Given the description of an element on the screen output the (x, y) to click on. 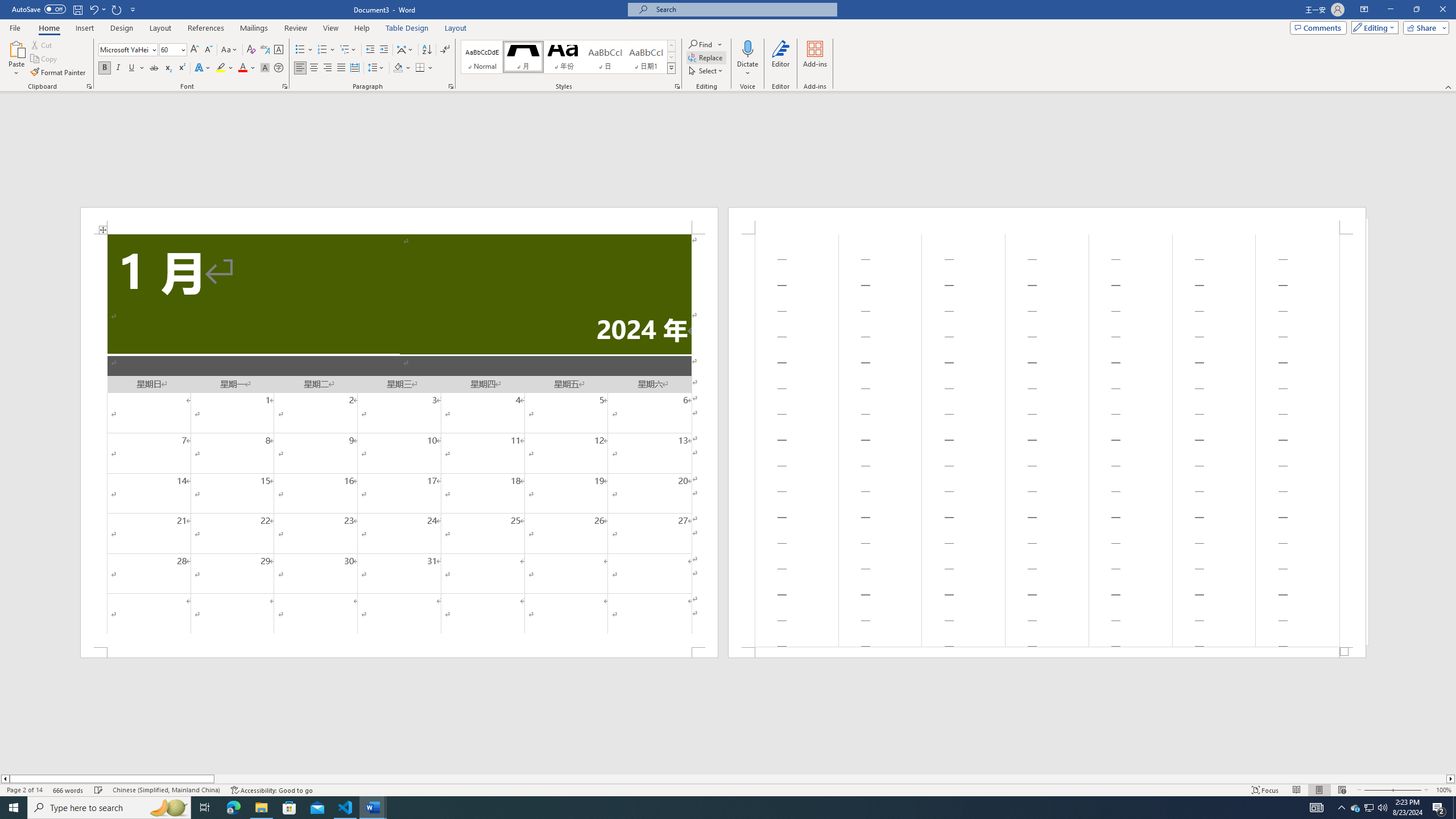
Dictate (747, 58)
Header -Section 1- (1046, 220)
More Options (747, 68)
Microsoft search (742, 9)
Borders (419, 67)
Replace... (705, 56)
Subscript (167, 67)
Mode (1372, 27)
Multilevel List (347, 49)
Superscript (180, 67)
Paste (16, 48)
Underline (131, 67)
Align Right (327, 67)
Font (124, 49)
Enclose Characters... (278, 67)
